Given the description of an element on the screen output the (x, y) to click on. 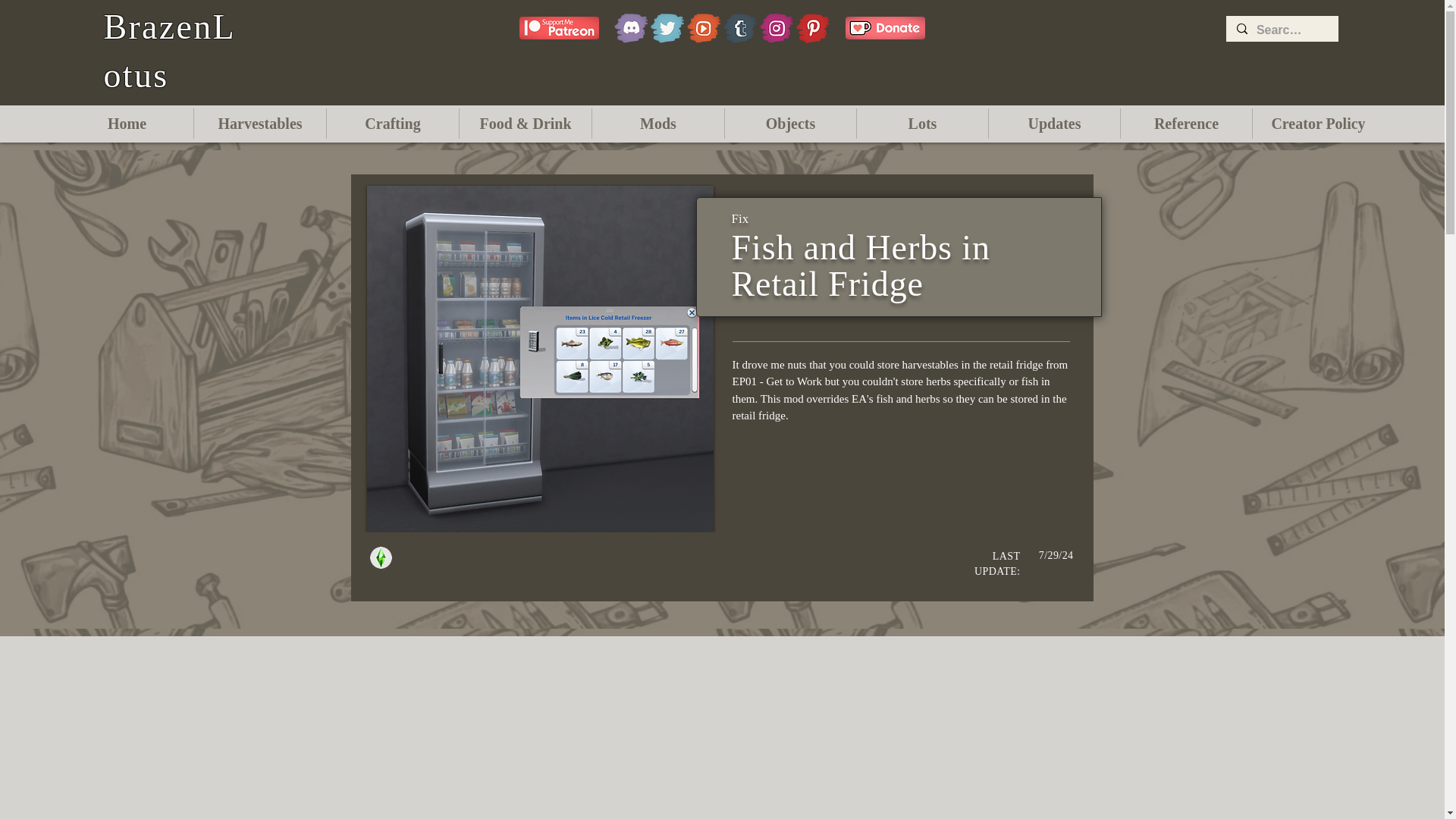
Home (127, 123)
Crafting (392, 123)
Mods (657, 123)
BG - Base Game (380, 557)
Updates (1053, 123)
Creator Policy (1318, 123)
BrazenLotus (168, 51)
Lots (922, 123)
Objects (790, 123)
Reference (1186, 123)
